Given the description of an element on the screen output the (x, y) to click on. 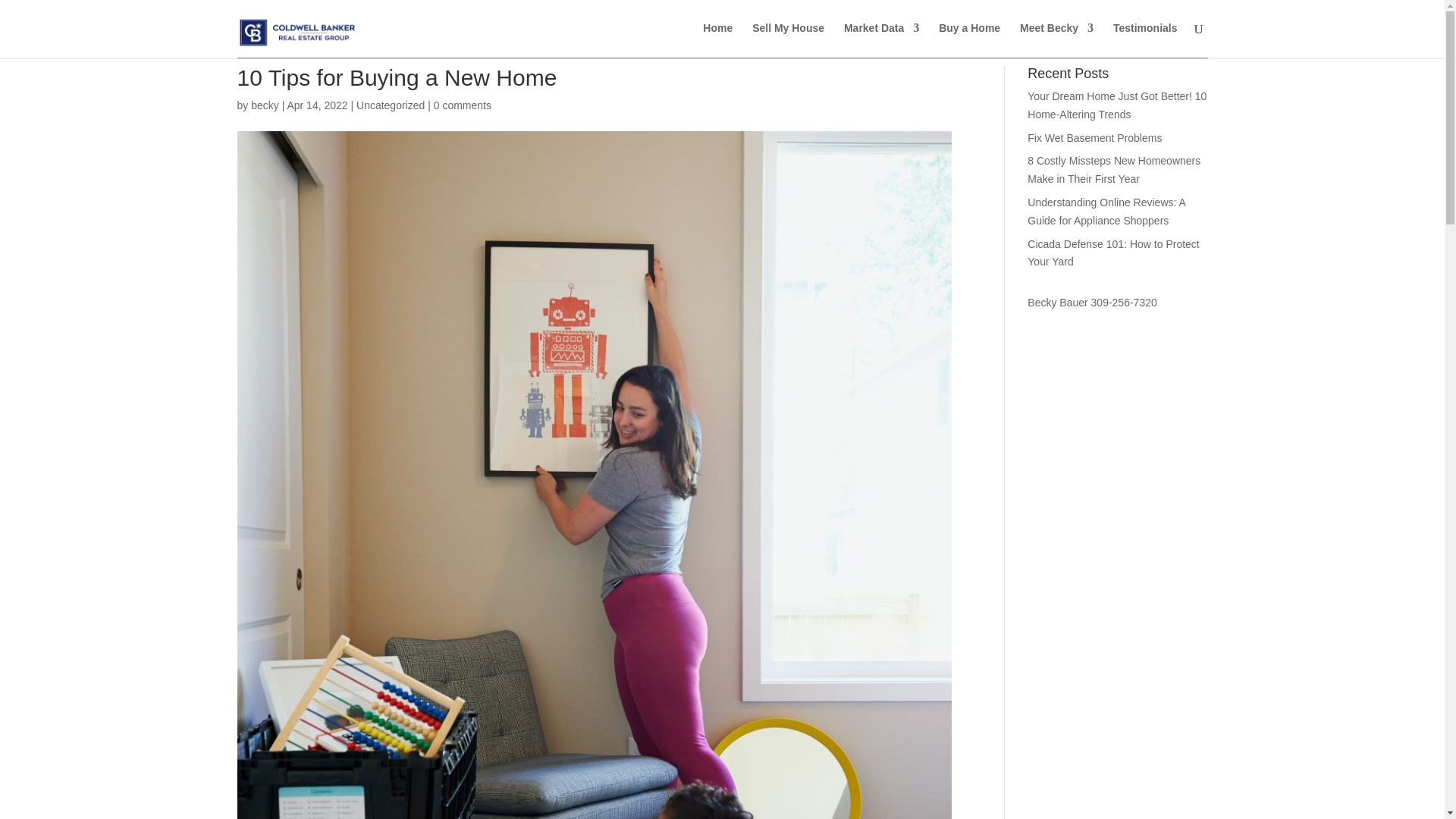
Testimonials (1145, 40)
Buy a Home (969, 40)
Posts by becky (264, 105)
Market Data (881, 40)
Meet Becky (1056, 40)
Sell My House (788, 40)
